Given the description of an element on the screen output the (x, y) to click on. 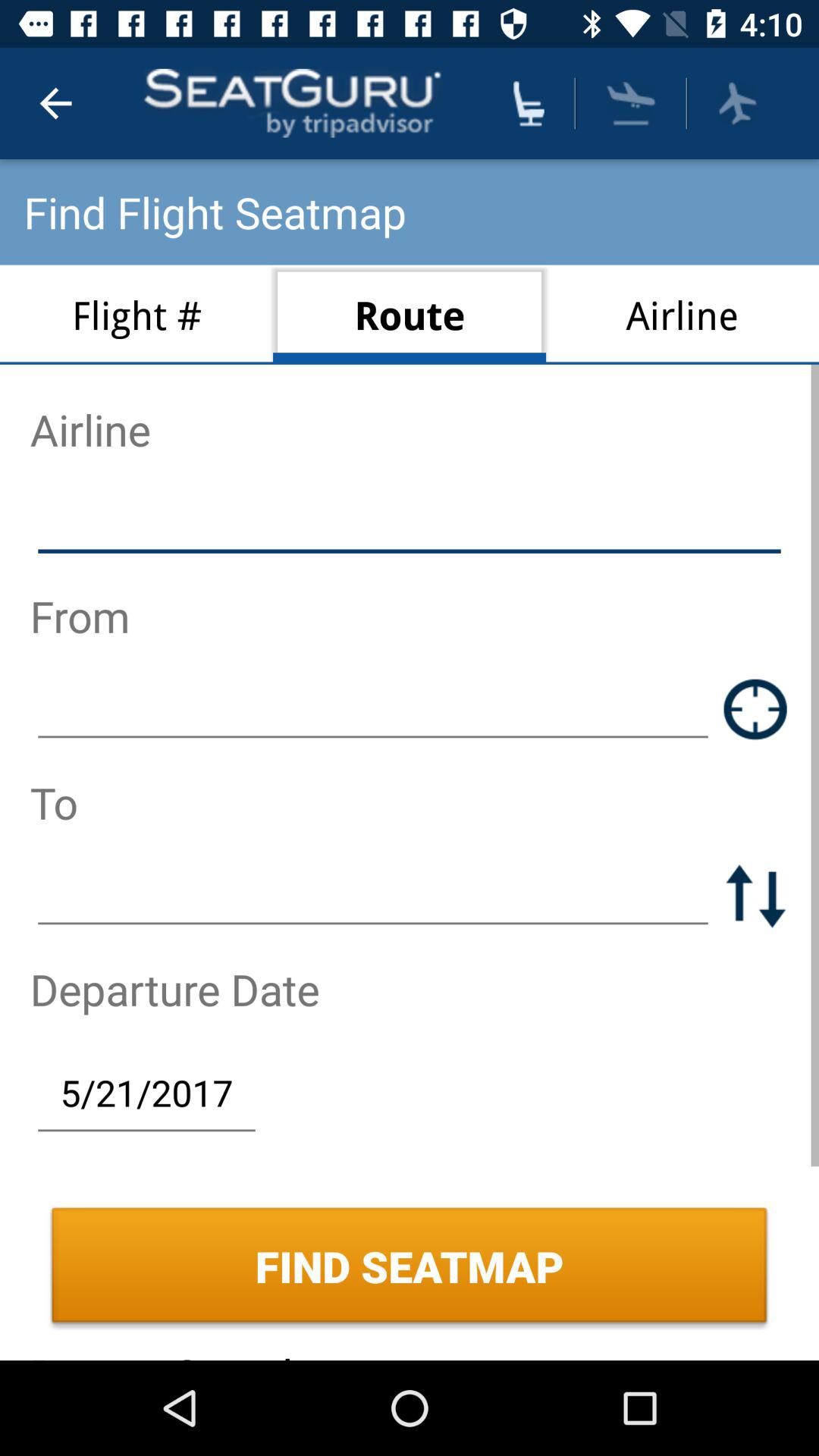
destination selection option (373, 895)
